Given the description of an element on the screen output the (x, y) to click on. 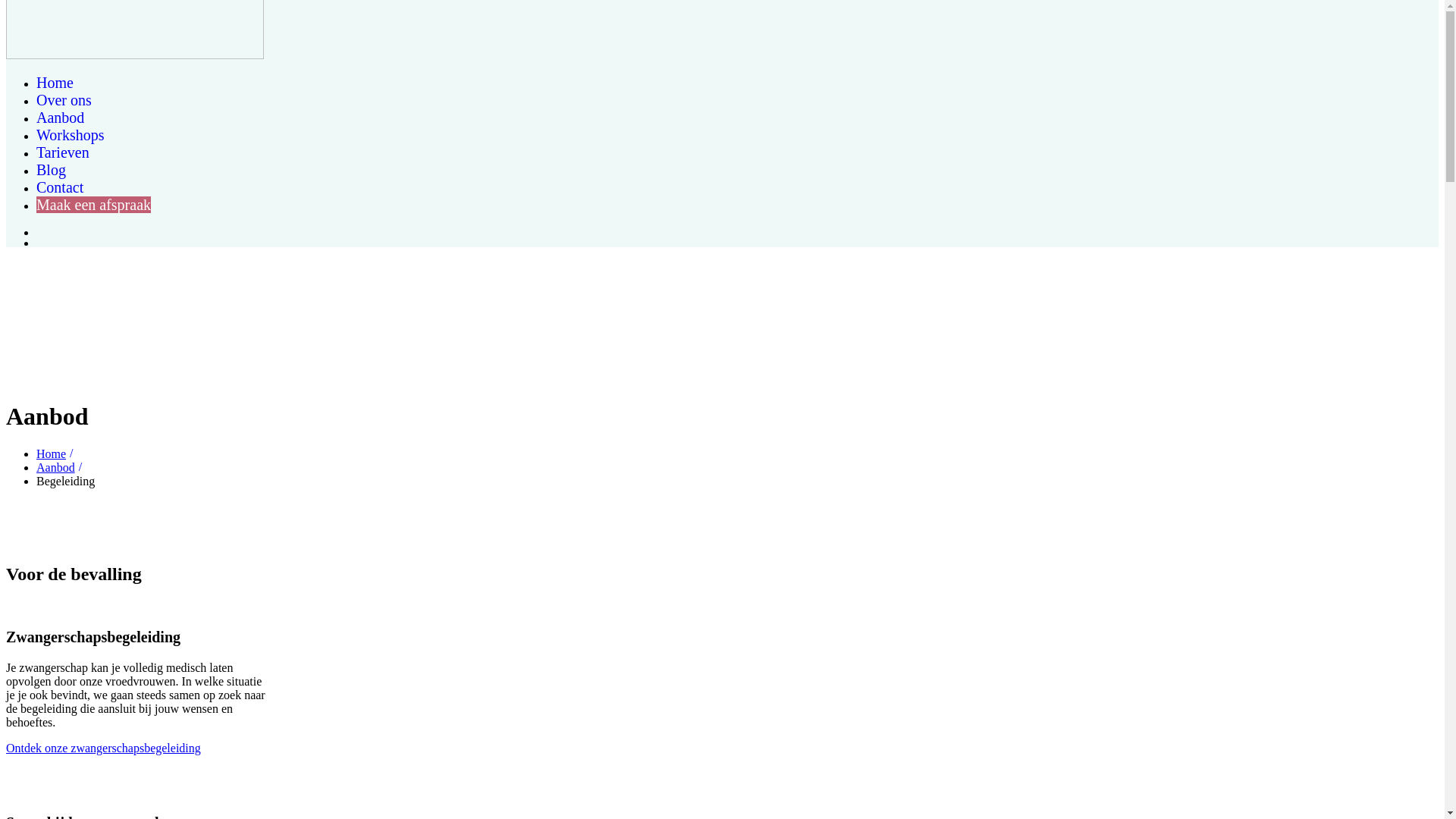
Blog Element type: text (50, 169)
Home Element type: text (54, 82)
Aanbod Element type: text (60, 467)
Tarieven Element type: text (62, 152)
Home Element type: text (56, 453)
Over ons Element type: text (63, 99)
Maak een afspraak Element type: text (93, 204)
Workshops Element type: text (70, 134)
Contact Element type: text (59, 186)
Aanbod Element type: text (60, 117)
Ontdek onze zwangerschapsbegeleiding Element type: text (103, 747)
